Given the description of an element on the screen output the (x, y) to click on. 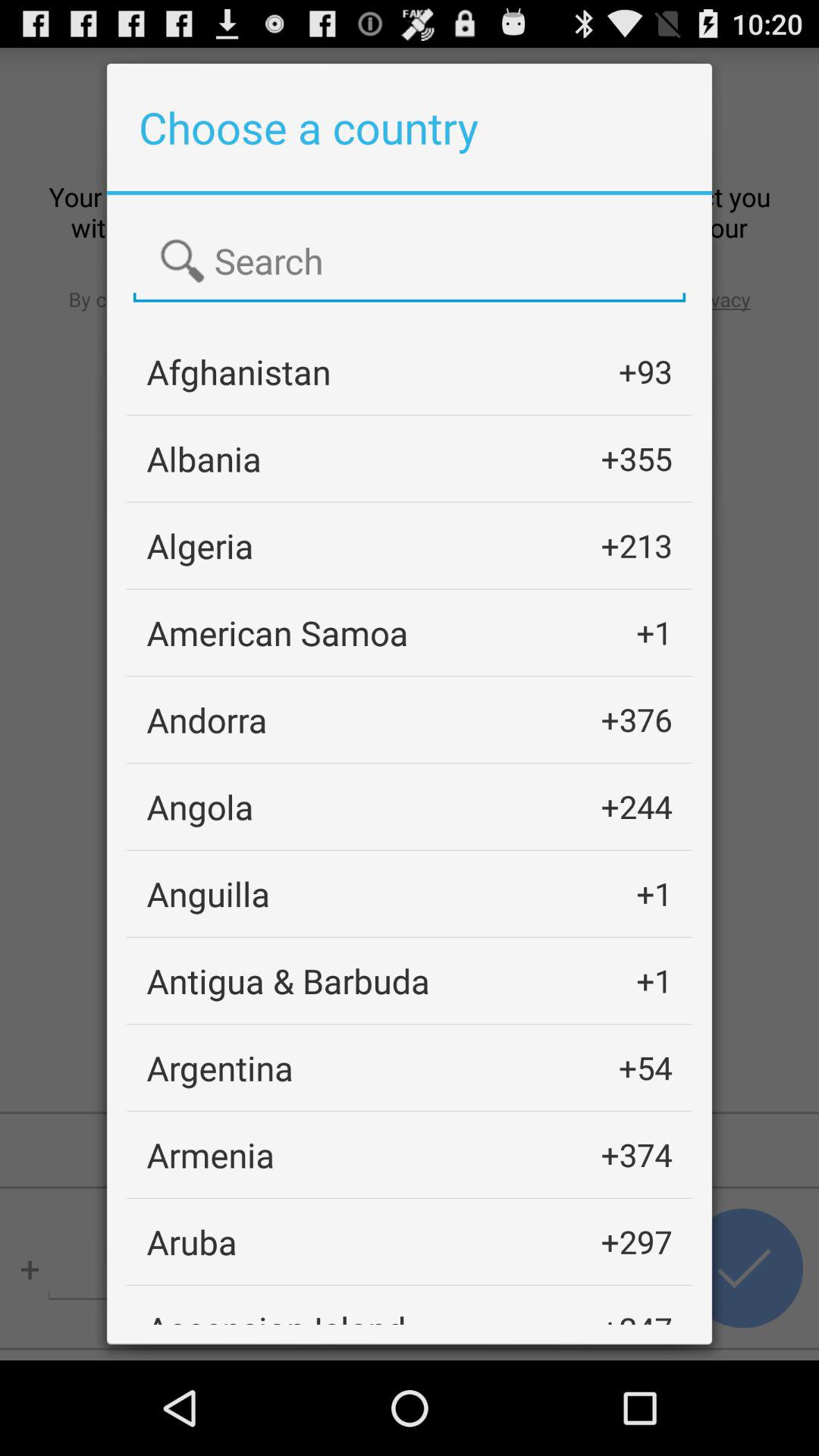
search box (409, 261)
